Given the description of an element on the screen output the (x, y) to click on. 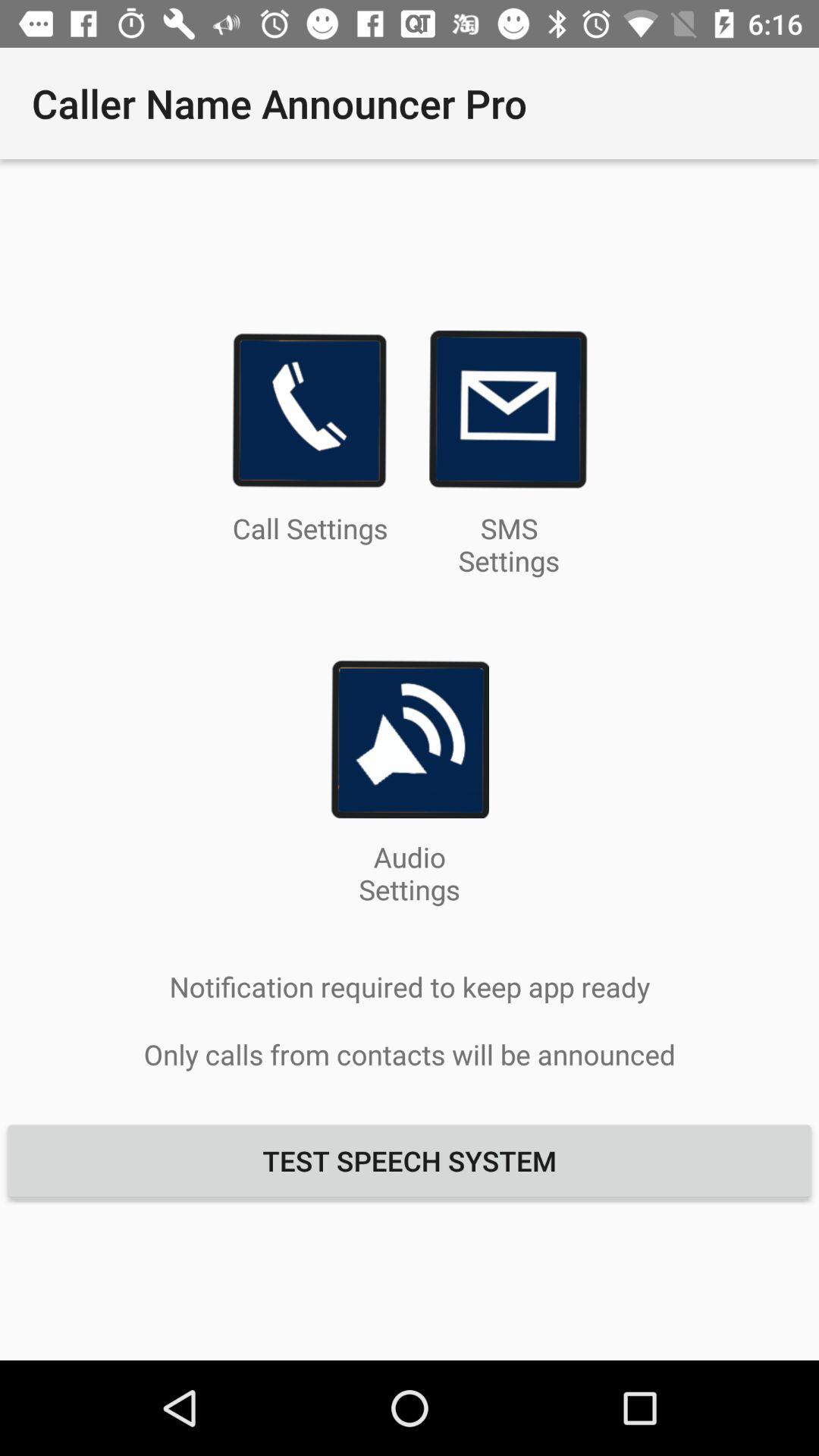
click test speech system (409, 1160)
